Given the description of an element on the screen output the (x, y) to click on. 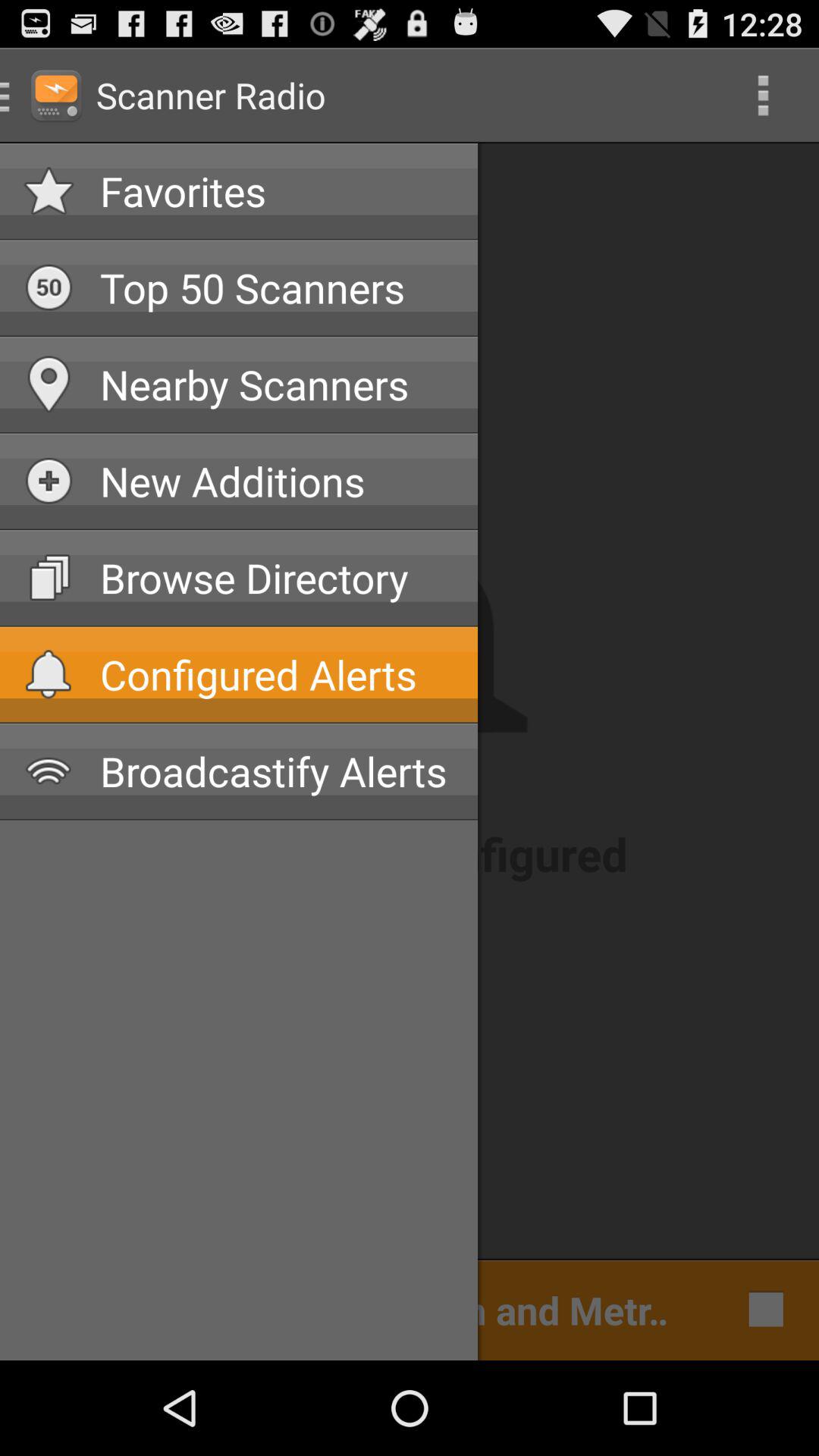
jump until new additions item (276, 480)
